Given the description of an element on the screen output the (x, y) to click on. 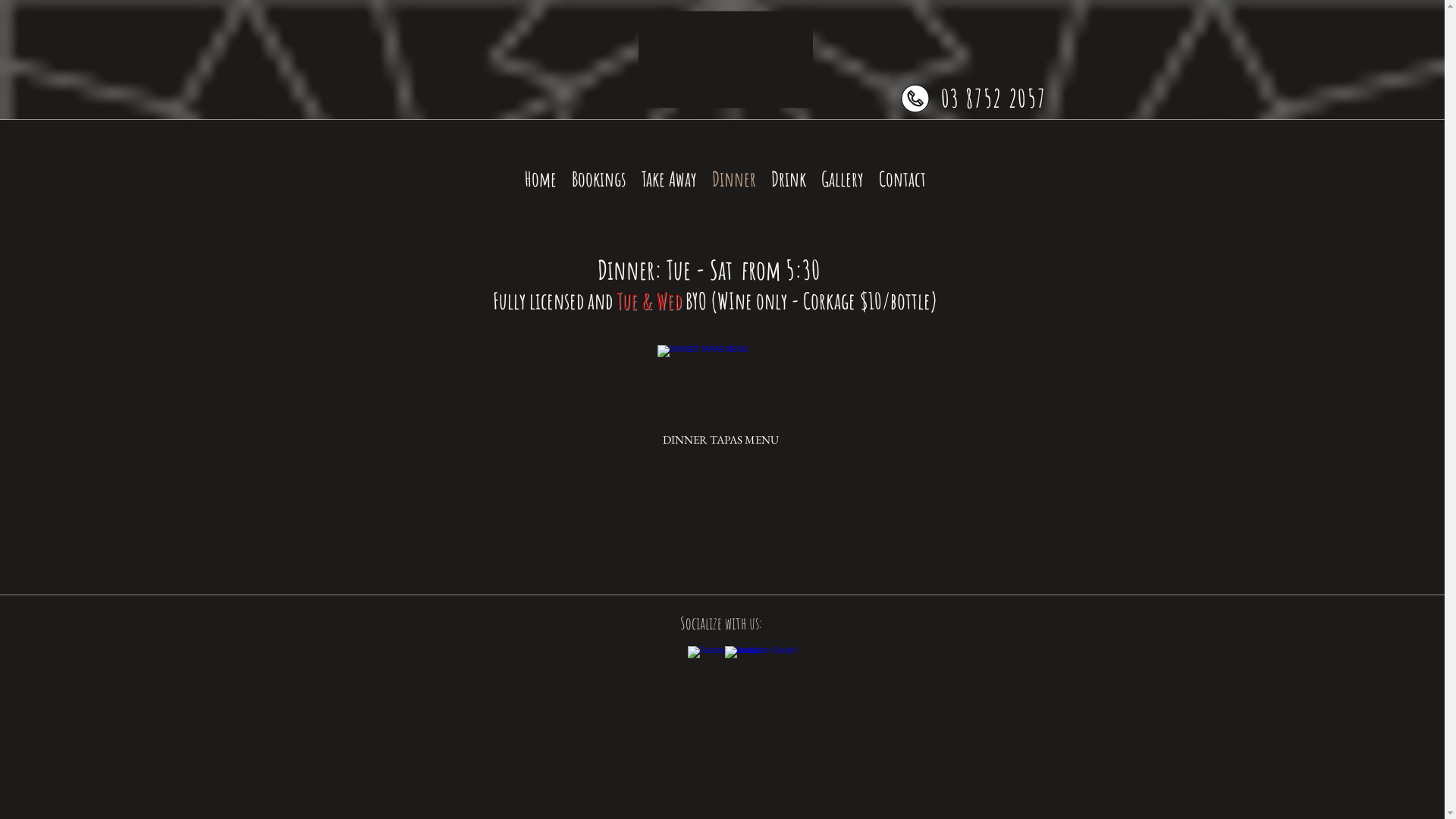
Gallery Element type: text (842, 179)
Take Away Element type: text (668, 179)
Home Element type: text (540, 179)
Bookings Element type: text (598, 179)
Contact Element type: text (902, 179)
Drink Element type: text (788, 179)
Dinner Element type: text (733, 179)
DINNER TAPAS MENU Element type: text (720, 398)
